Given the description of an element on the screen output the (x, y) to click on. 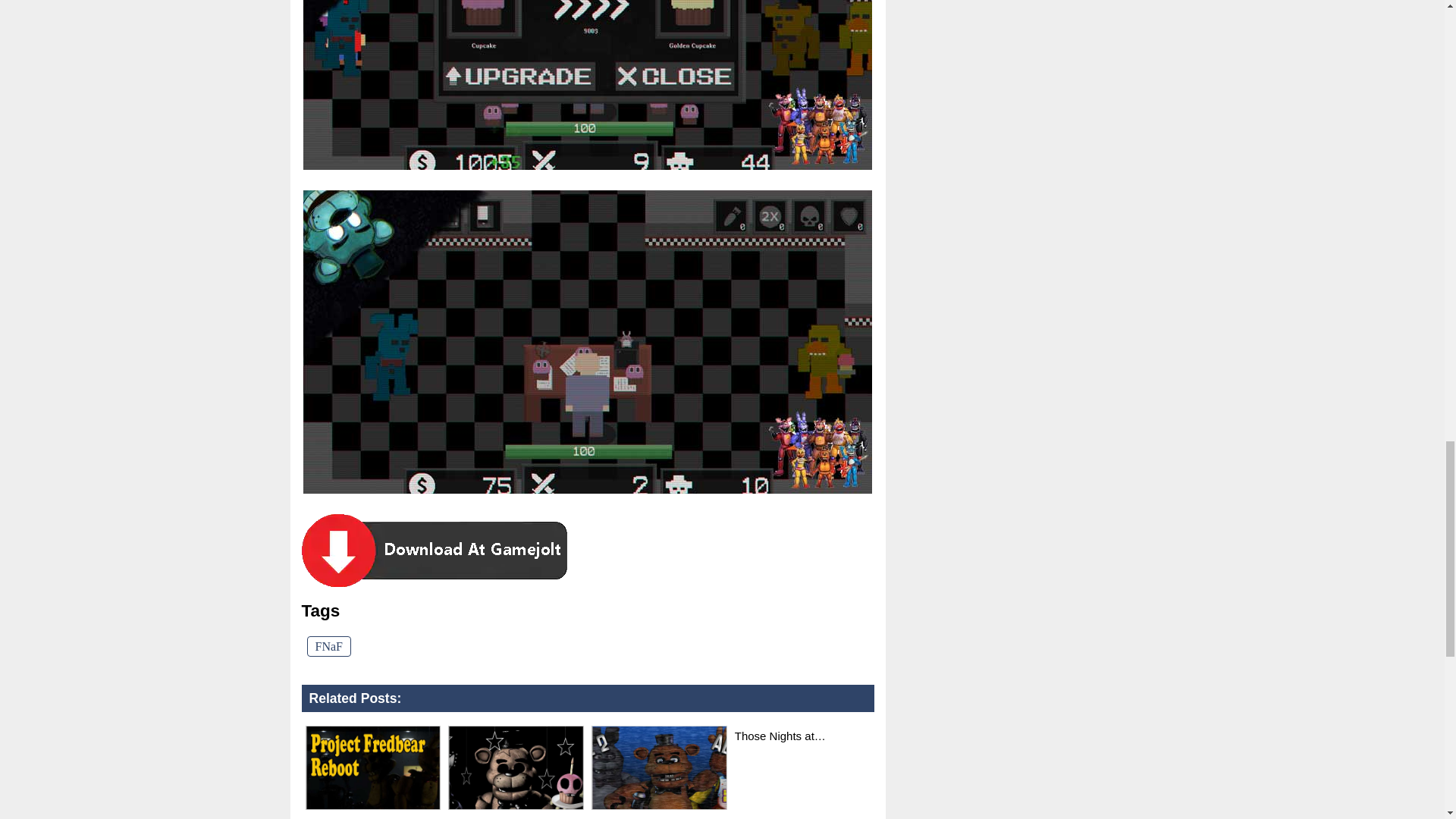
Five Nights at Freddys 1-6 Jumpscare Simulator (658, 809)
FNaF (327, 646)
Five Nights at Freddys 1-6 Jumpscare Simulator (658, 767)
Project Fredbear Reboot (372, 809)
Project Fredbear Reboot (372, 767)
